Given the description of an element on the screen output the (x, y) to click on. 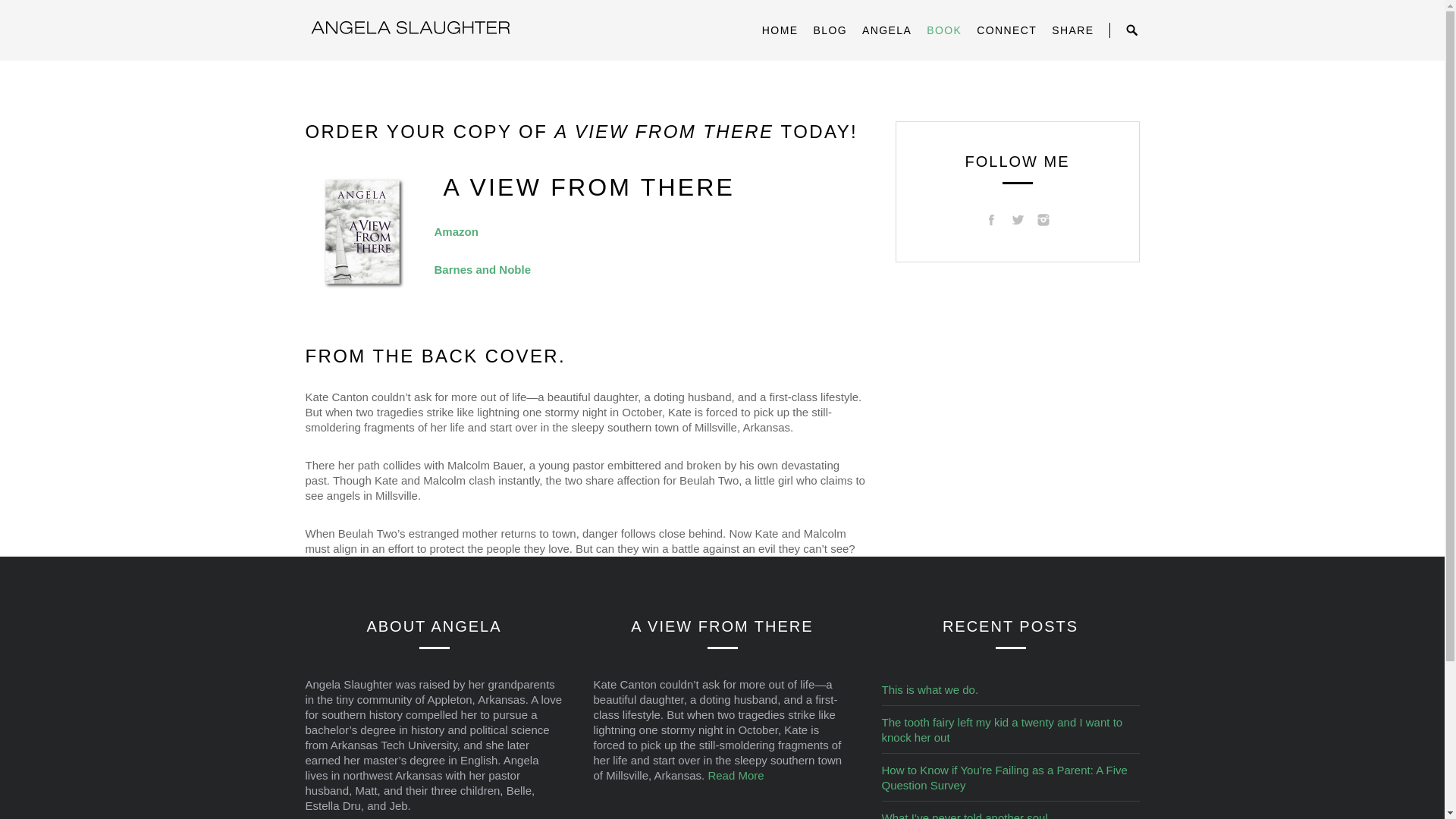
ANGELA (886, 30)
Open (1131, 29)
Amazon (455, 231)
Amazon (455, 231)
SHARE (1072, 30)
CONNECT (1006, 30)
Barnes and Noble (482, 269)
HOME (779, 30)
Barnes and Noble (482, 269)
BOOK (943, 30)
BLOG (829, 30)
This is what we do. (929, 689)
Read More (734, 775)
